Given the description of an element on the screen output the (x, y) to click on. 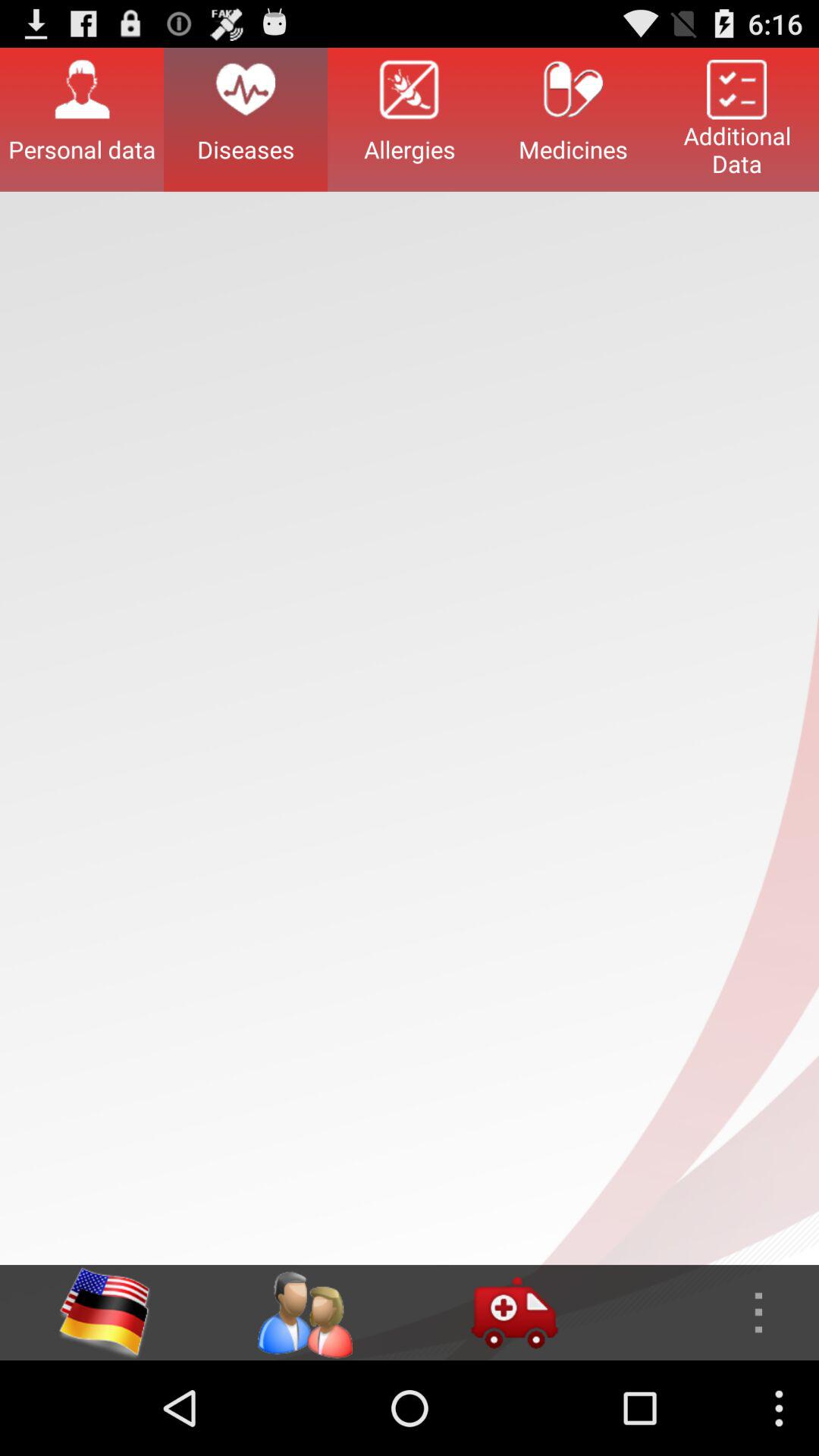
choose icon next to diseases button (409, 119)
